Given the description of an element on the screen output the (x, y) to click on. 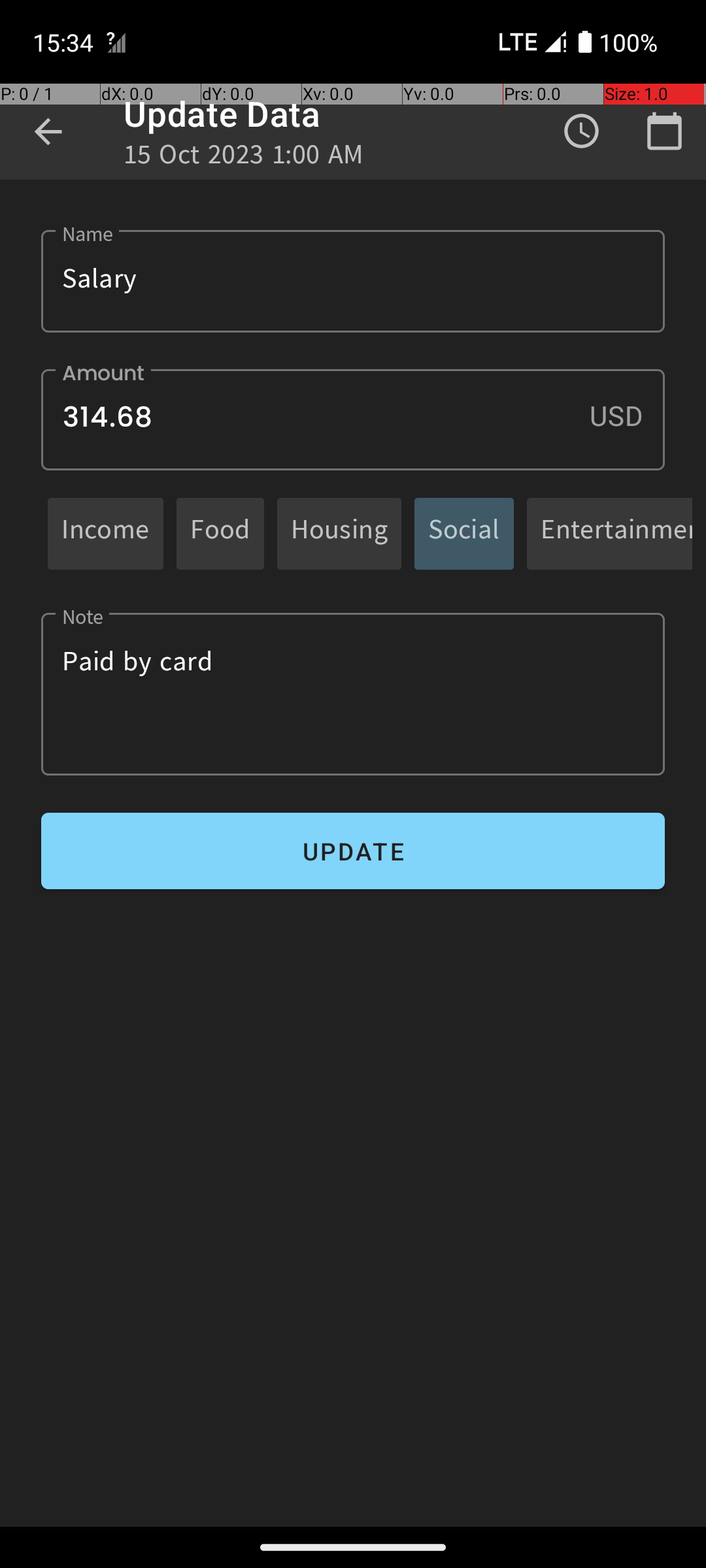
15 Oct 2023 1:00 AM Element type: android.widget.TextView (243, 157)
Salary Element type: android.widget.EditText (352, 280)
314.68 Element type: android.widget.EditText (352, 419)
